Given the description of an element on the screen output the (x, y) to click on. 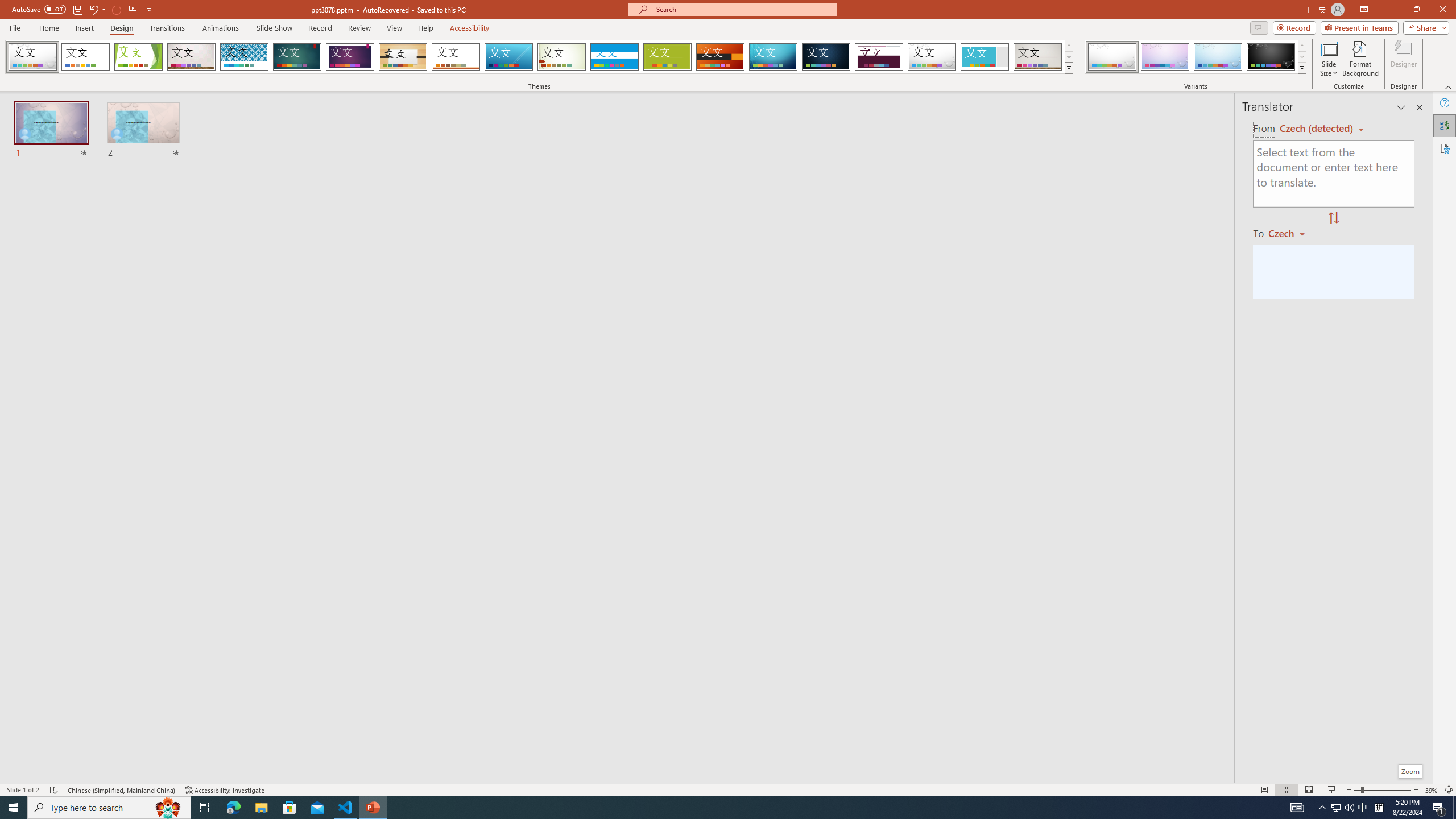
Ion (296, 56)
Droplet Variant 1 (1112, 56)
